Given the description of an element on the screen output the (x, y) to click on. 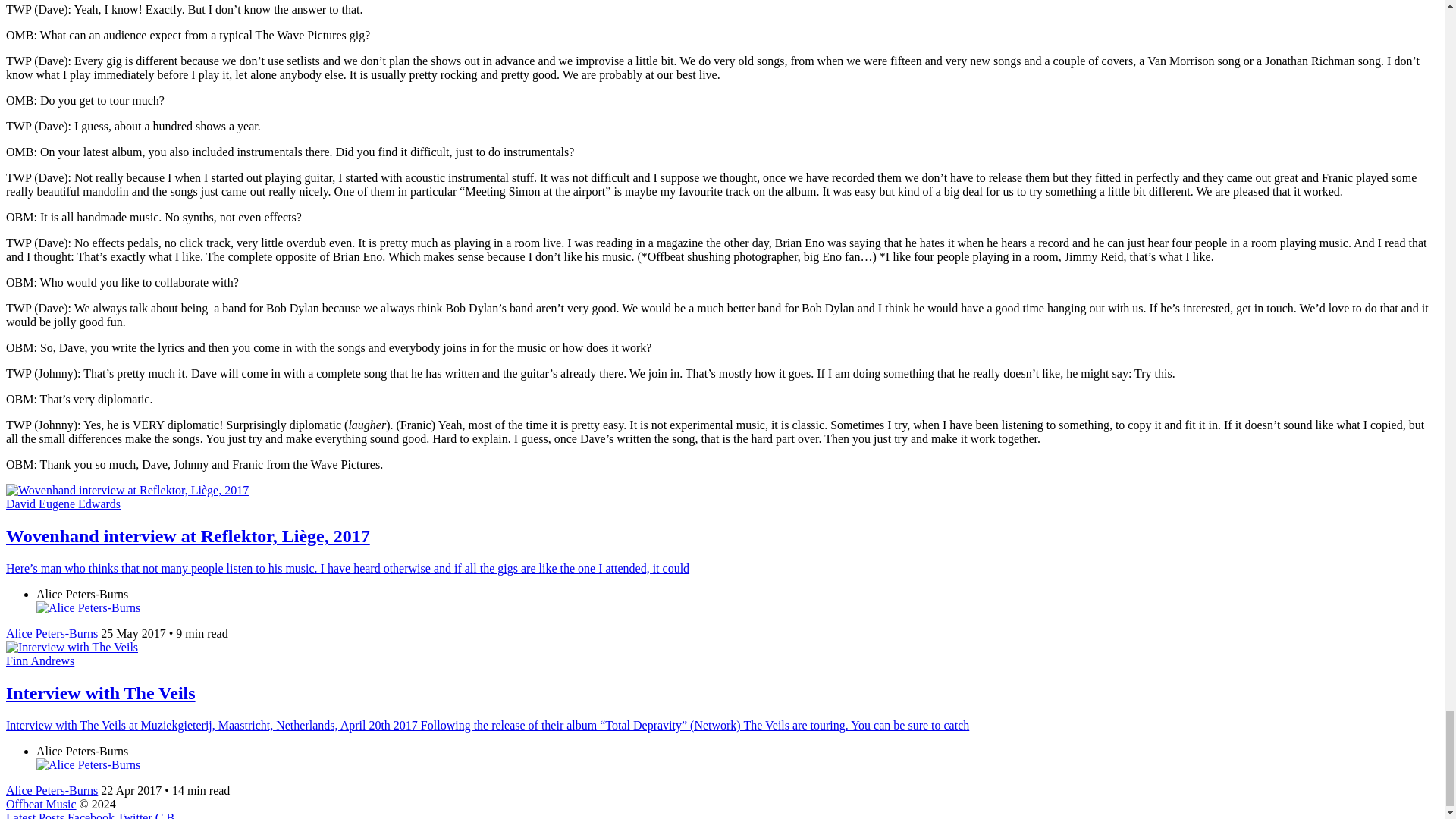
Alice Peters-Burns (51, 633)
Alice Peters-Burns (51, 789)
Offbeat Music (41, 803)
